Given the description of an element on the screen output the (x, y) to click on. 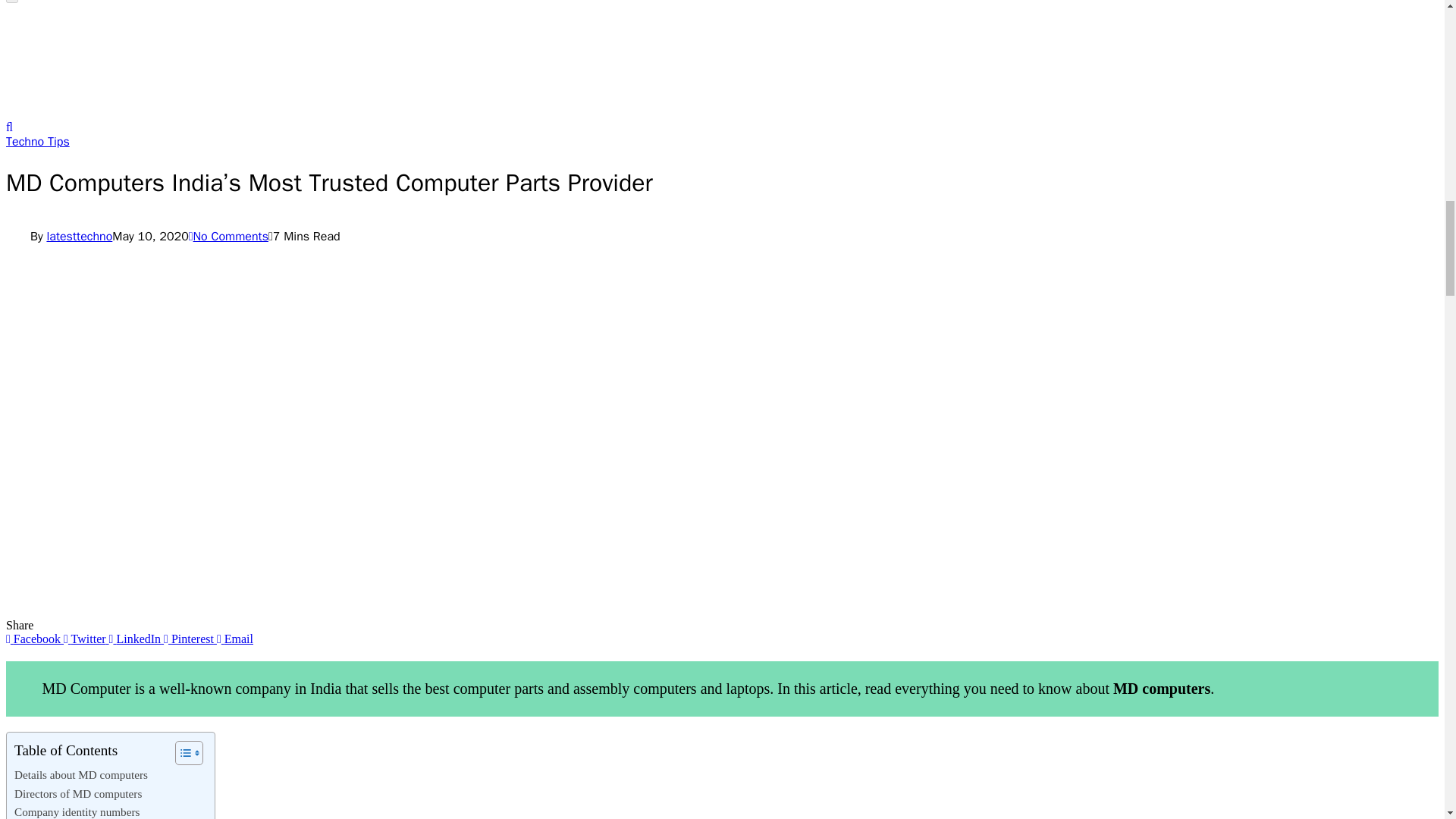
Email (234, 638)
Company identity numbers (76, 811)
Posts by latesttechno (79, 236)
Pinterest (189, 638)
LinkedIn (136, 638)
Facebook (34, 638)
Twitter (86, 638)
Directors of MD computers (77, 793)
Latest Techno (226, 113)
Details about MD computers (81, 774)
